Given the description of an element on the screen output the (x, y) to click on. 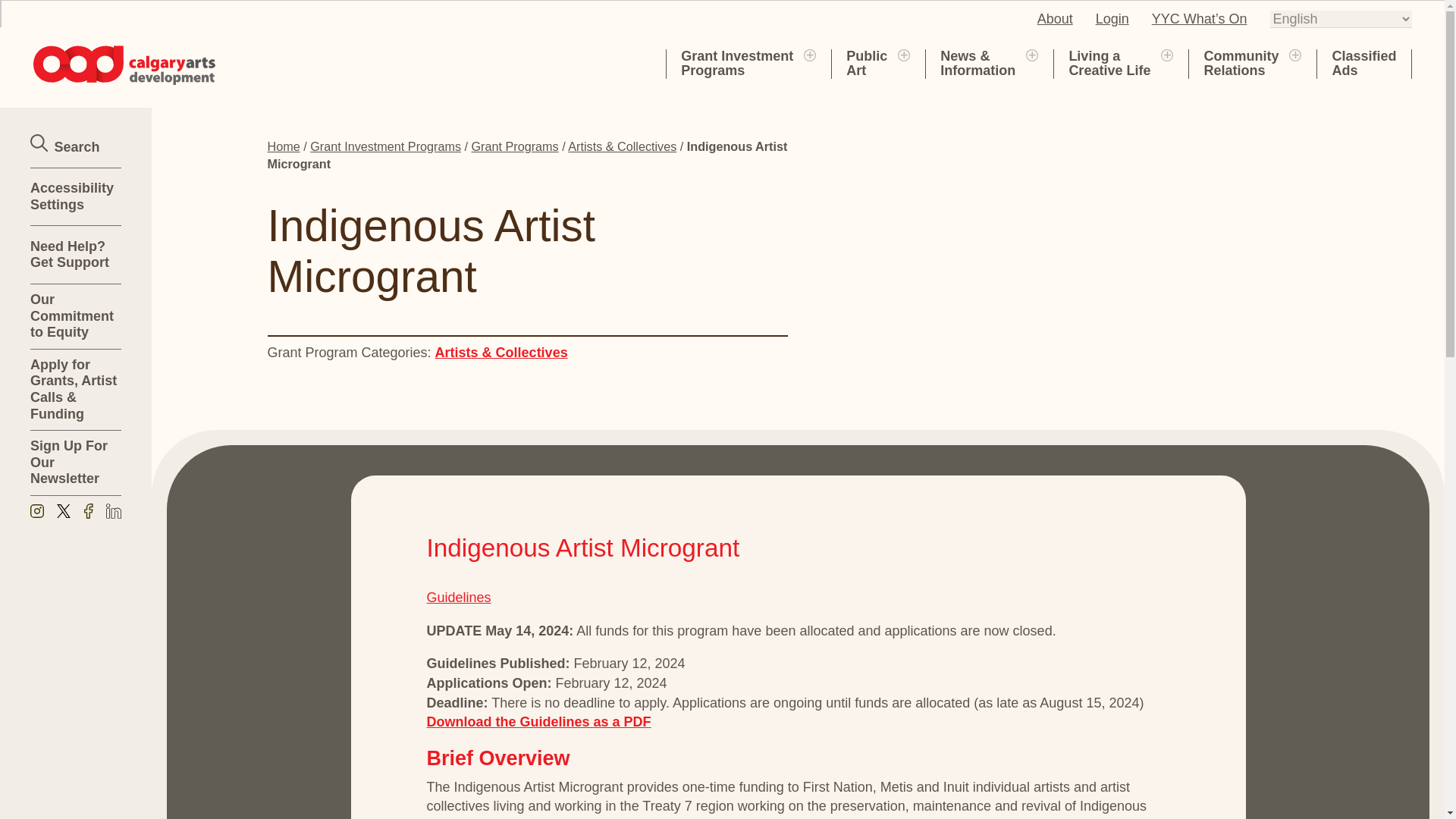
Expand Community Relations Submenu (1294, 54)
Login (737, 63)
Expand Living a Creative Life Submenu (1112, 17)
About (1109, 63)
Expand Public Art Submenu (1166, 54)
Expand Grant Investment Programs Submenu (1054, 17)
